Given the description of an element on the screen output the (x, y) to click on. 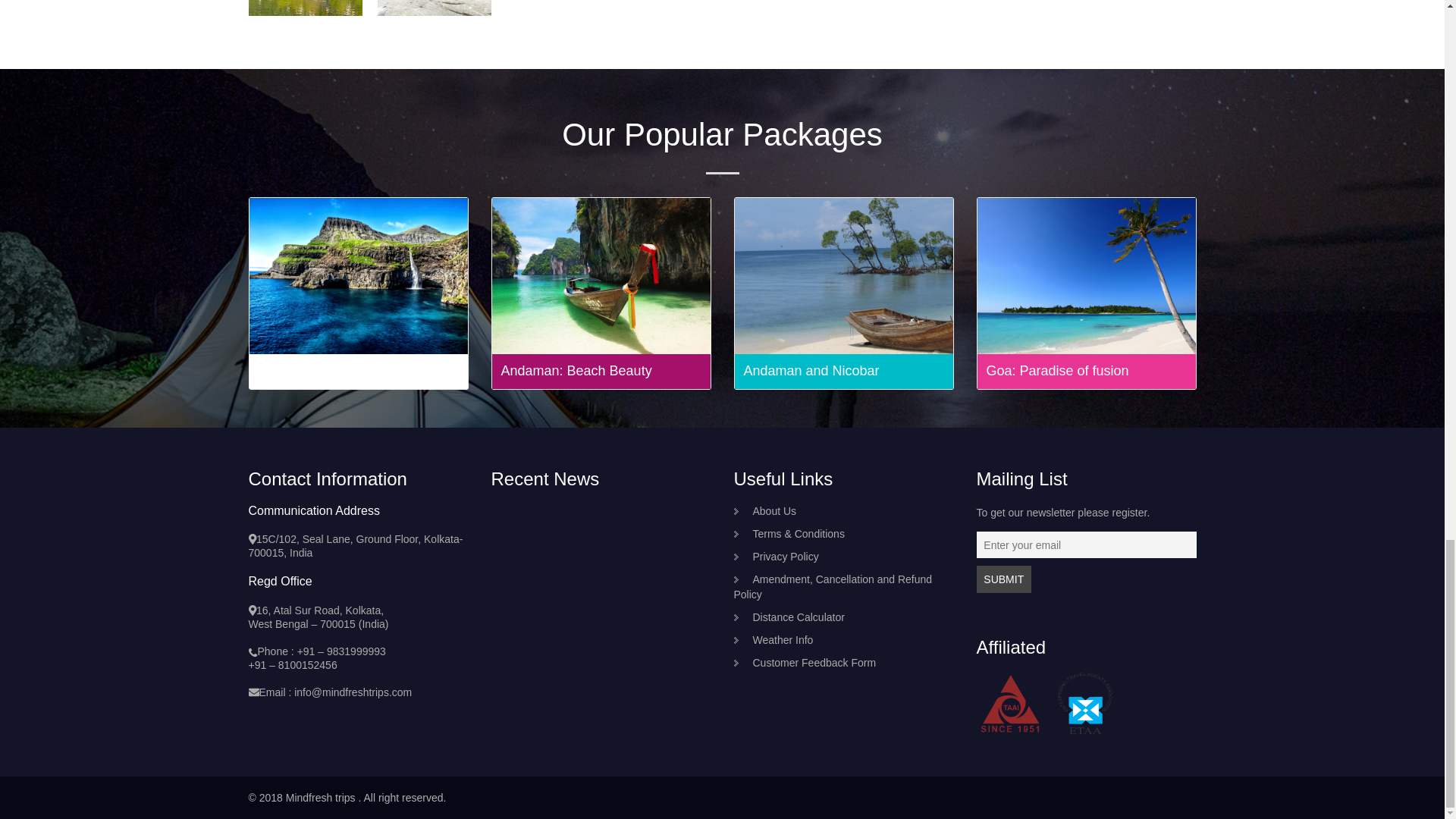
SUBMIT (1003, 578)
Denmark (285, 370)
